Given the description of an element on the screen output the (x, y) to click on. 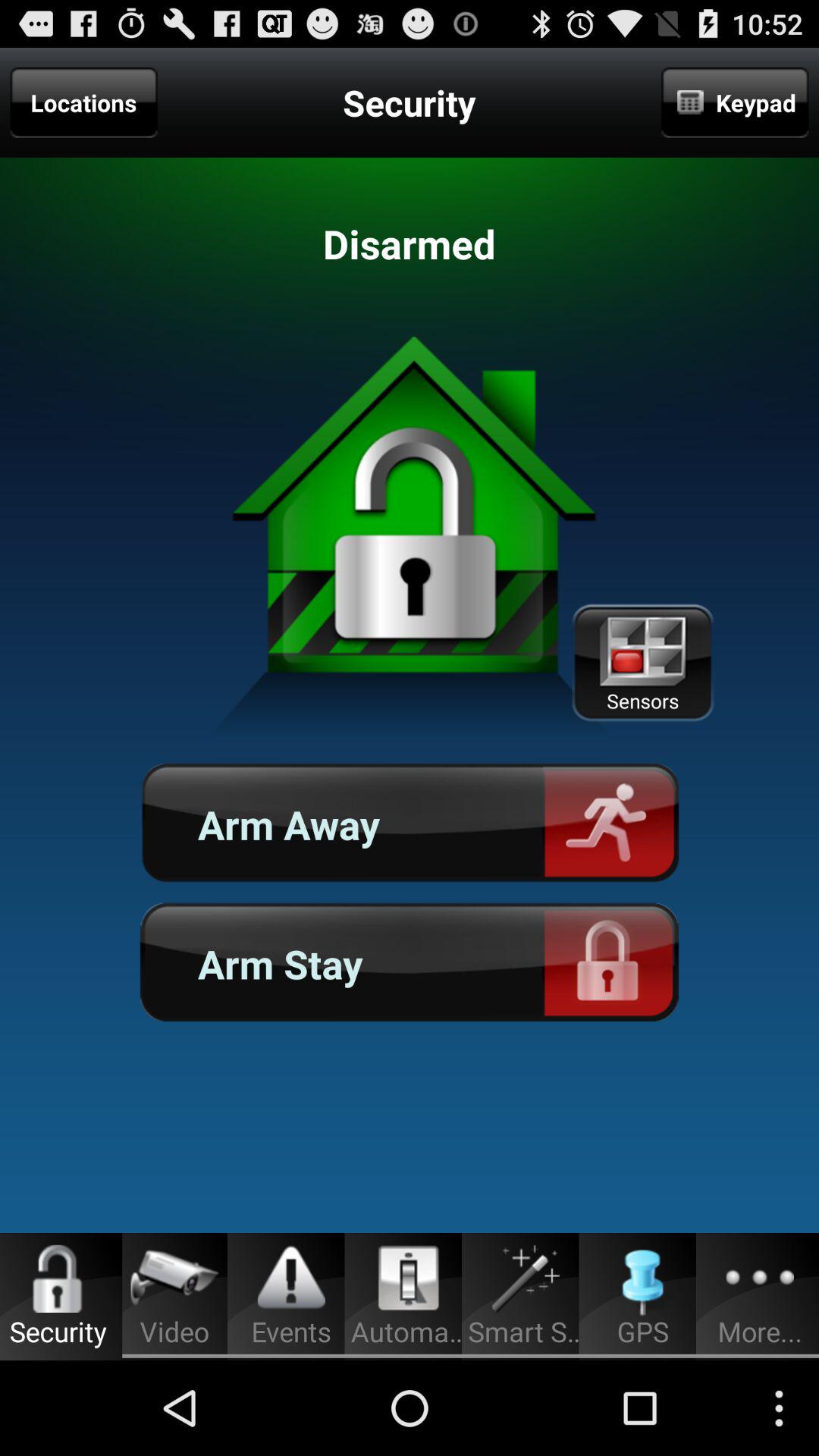
open sensors icon (642, 662)
